Given the description of an element on the screen output the (x, y) to click on. 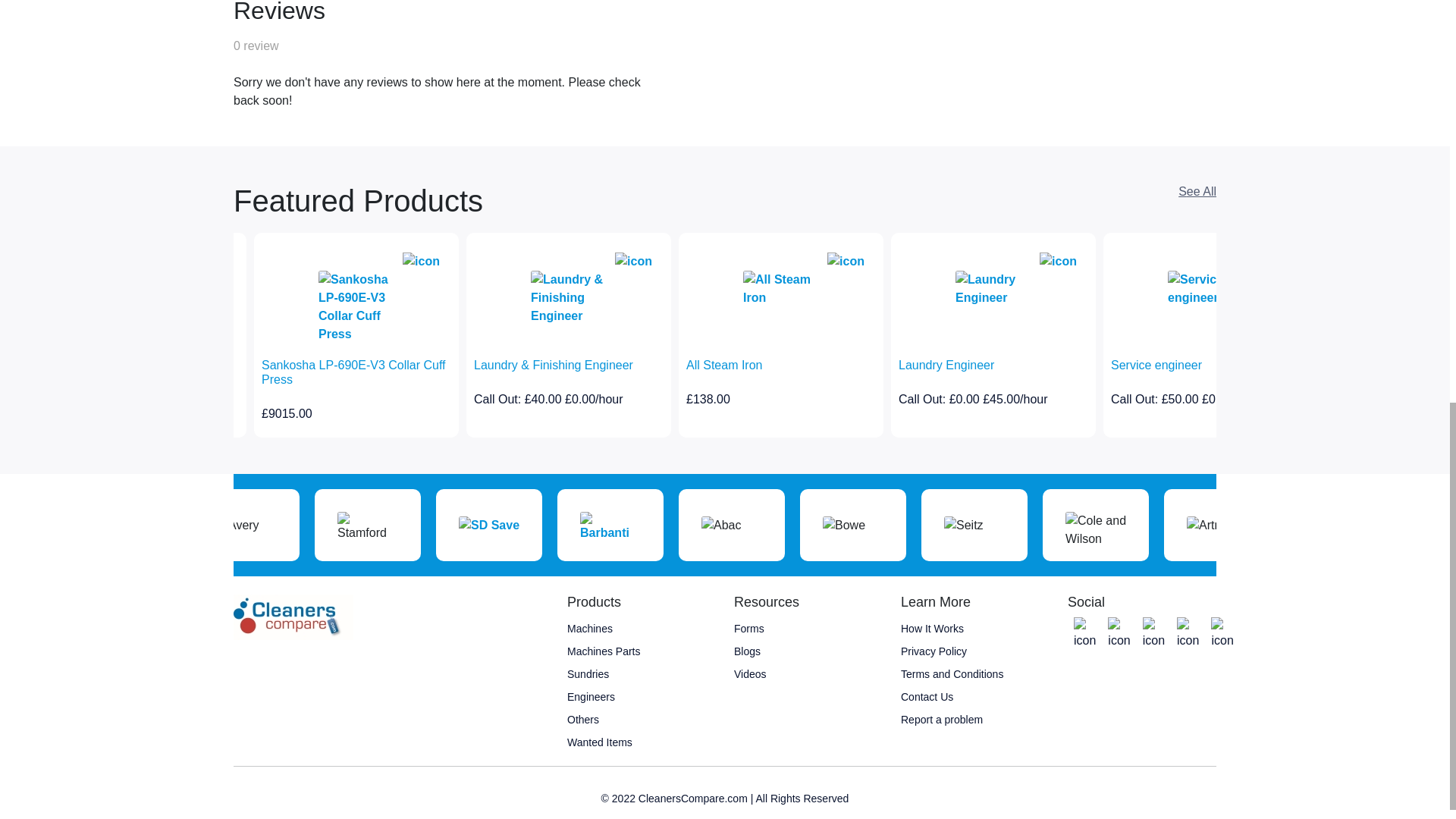
All Steam Iron (780, 364)
See All (1196, 191)
Sankosha LP-690E-V3 Collar Cuff Press (356, 371)
Laundry Engineer (992, 364)
Electrolux T5290 Coin-OP Reversing Dryer 13kg 230V (143, 371)
